Given the description of an element on the screen output the (x, y) to click on. 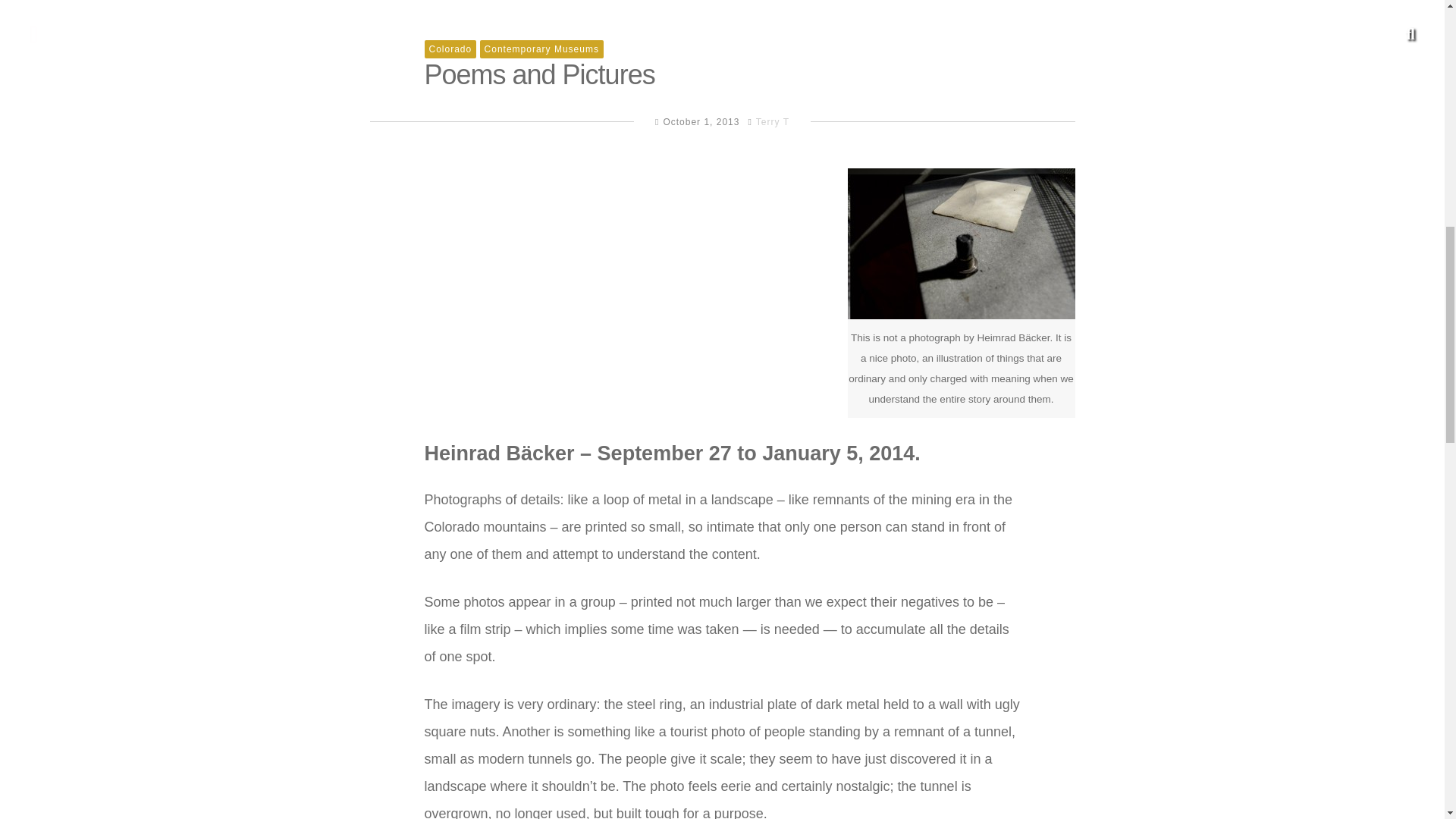
Terry T (772, 122)
Contemporary Museums (542, 49)
Colorado (451, 49)
